Given the description of an element on the screen output the (x, y) to click on. 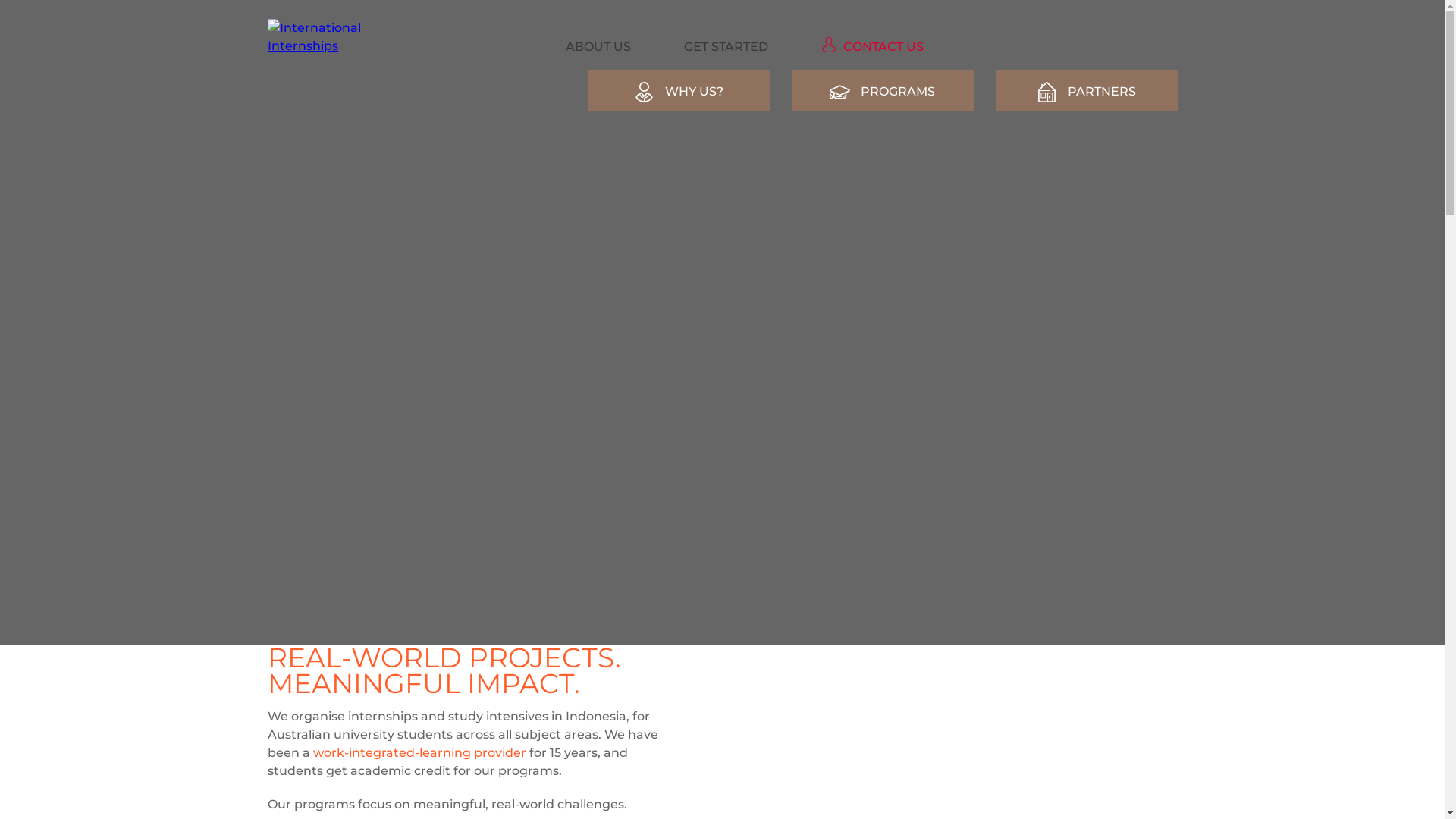
WHY US? Element type: text (678, 91)
CONTACT US Element type: text (871, 48)
work-integrated-learning provider Element type: text (418, 752)
PROGRAMS Element type: text (882, 91)
ABOUT US Element type: text (597, 48)
International Internships Element type: hover (321, 36)
GET STARTED Element type: text (726, 48)
PARTNERS Element type: text (1085, 91)
